Given the description of an element on the screen output the (x, y) to click on. 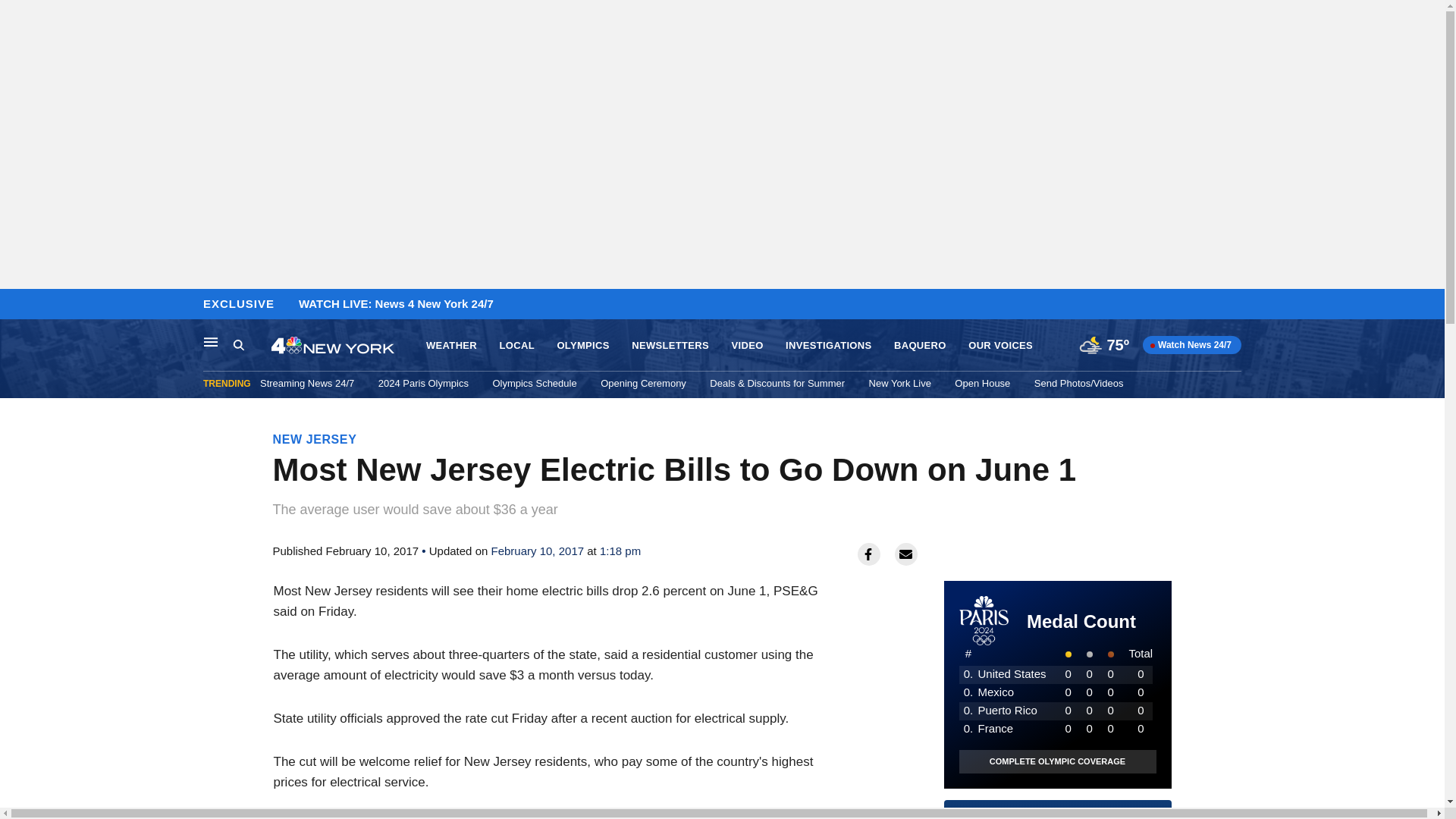
COMPLETE OLYMPIC COVERAGE (1057, 761)
BAQUERO (919, 345)
Main Navigation (210, 341)
Opening Ceremony (642, 383)
Olympics Schedule (534, 383)
Search (238, 344)
INVESTIGATIONS (828, 345)
Search (252, 345)
Open House (982, 383)
LOCAL (516, 345)
NEWSLETTERS (670, 345)
Skip to content (16, 304)
VIDEO (1056, 814)
New York Live (746, 345)
